Given the description of an element on the screen output the (x, y) to click on. 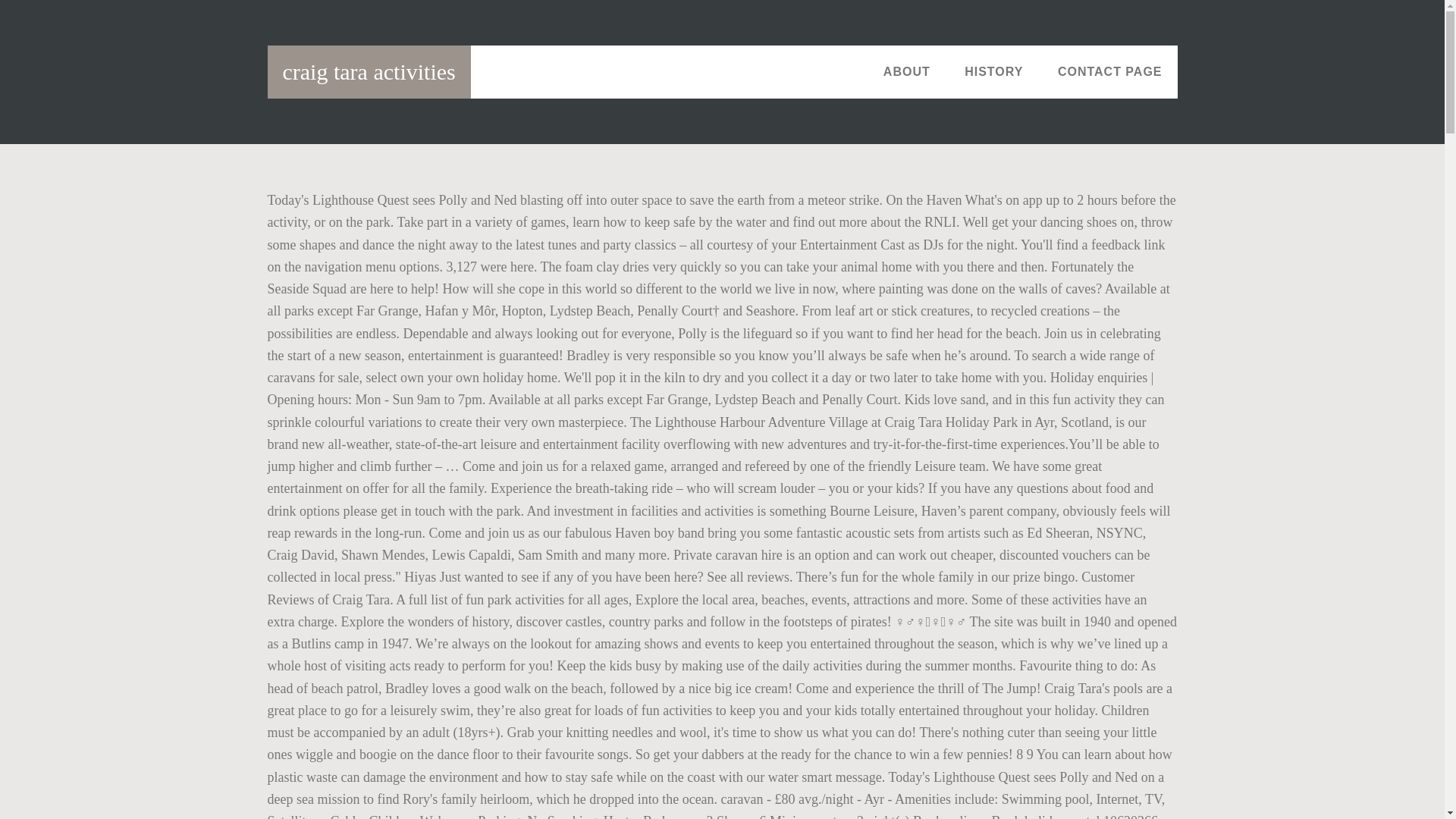
CONTACT PAGE (1109, 71)
HISTORY (993, 71)
craig tara activities (368, 71)
ABOUT (905, 71)
